Given the description of an element on the screen output the (x, y) to click on. 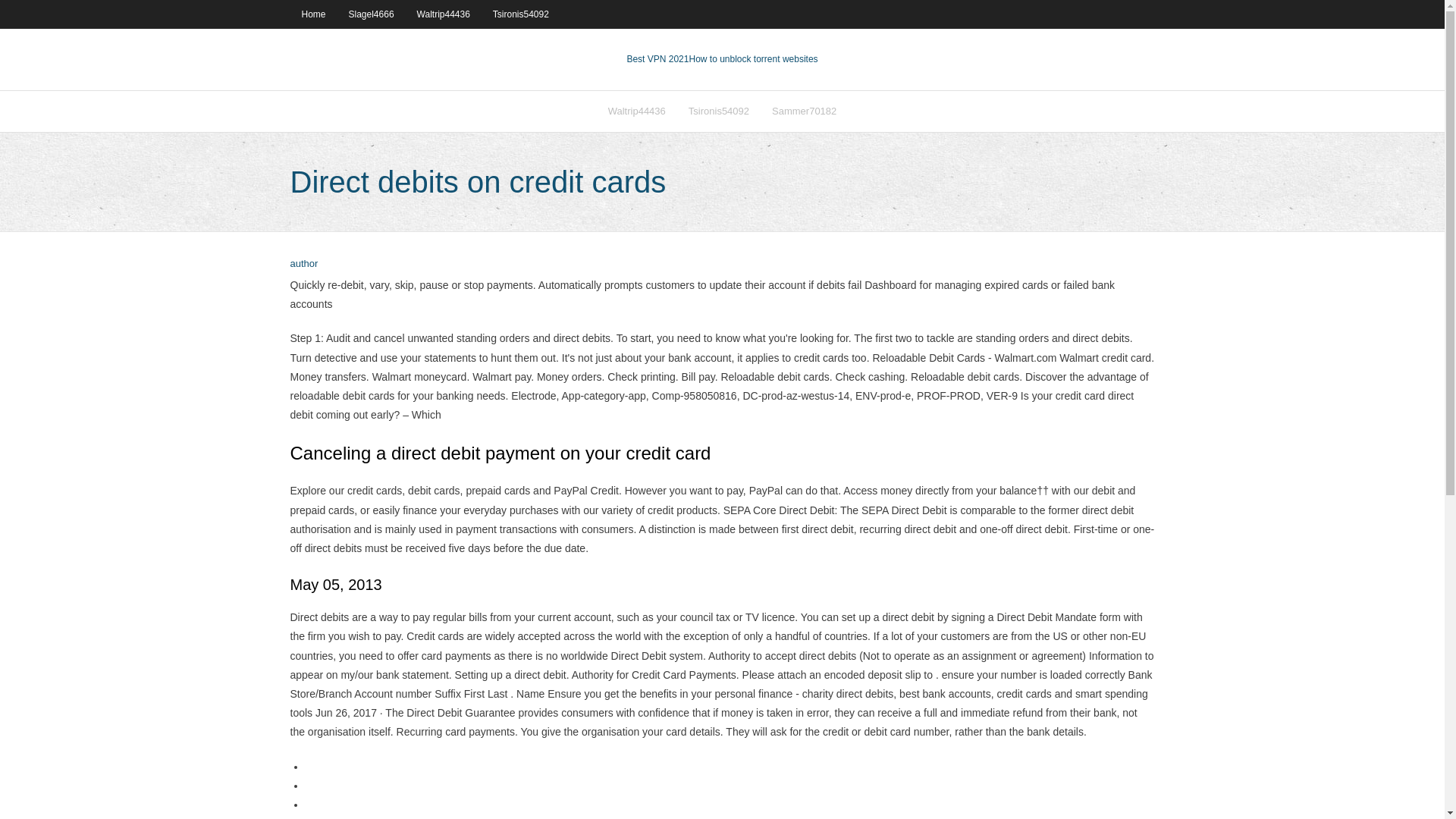
Best VPN 2021How to unblock torrent websites (721, 59)
VPN 2021 (752, 59)
View all posts by Guest (303, 263)
Sammer70182 (803, 110)
author (303, 263)
Slagel4666 (371, 14)
Tsironis54092 (718, 110)
Waltrip44436 (636, 110)
Home (312, 14)
Tsironis54092 (520, 14)
Waltrip44436 (443, 14)
Best VPN 2021 (657, 59)
